Given the description of an element on the screen output the (x, y) to click on. 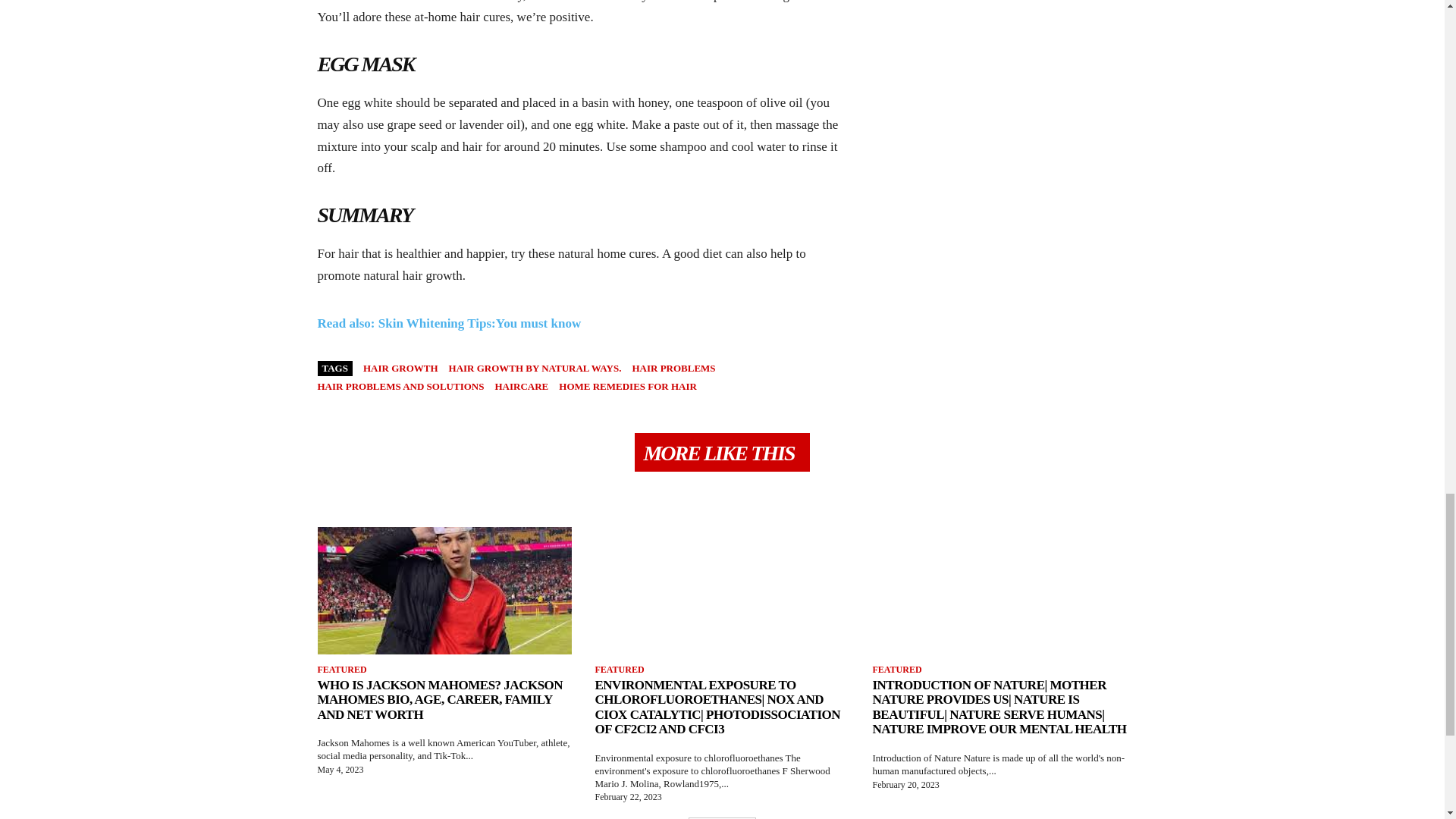
HAIR GROWTH BY NATURAL WAYS. (534, 367)
HAIR PROBLEMS (672, 367)
HAIR PROBLEMS AND SOLUTIONS (400, 386)
HOME REMEDIES FOR HAIR (628, 386)
HAIR GROWTH (400, 367)
HAIRCARE (521, 386)
Read also: Skin Whitening Tips:You must know (448, 323)
